Given the description of an element on the screen output the (x, y) to click on. 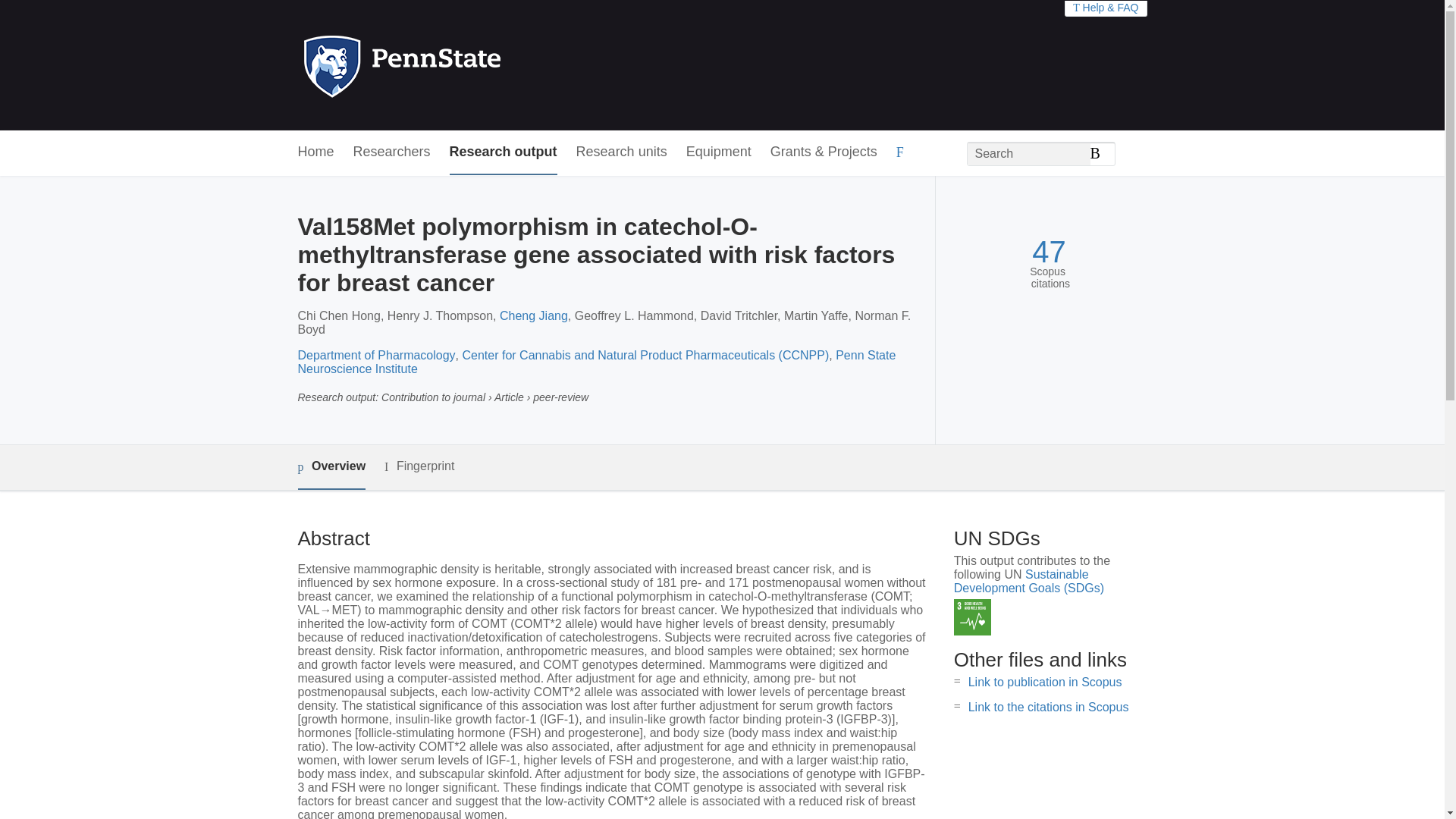
Equipment (718, 152)
Fingerprint (419, 466)
Department of Pharmacology (375, 354)
Link to the citations in Scopus (1048, 707)
Researchers (391, 152)
Link to publication in Scopus (1045, 681)
Penn State Home (467, 65)
Research units (621, 152)
Cheng Jiang (533, 315)
Penn State Neuroscience Institute (596, 361)
